Given the description of an element on the screen output the (x, y) to click on. 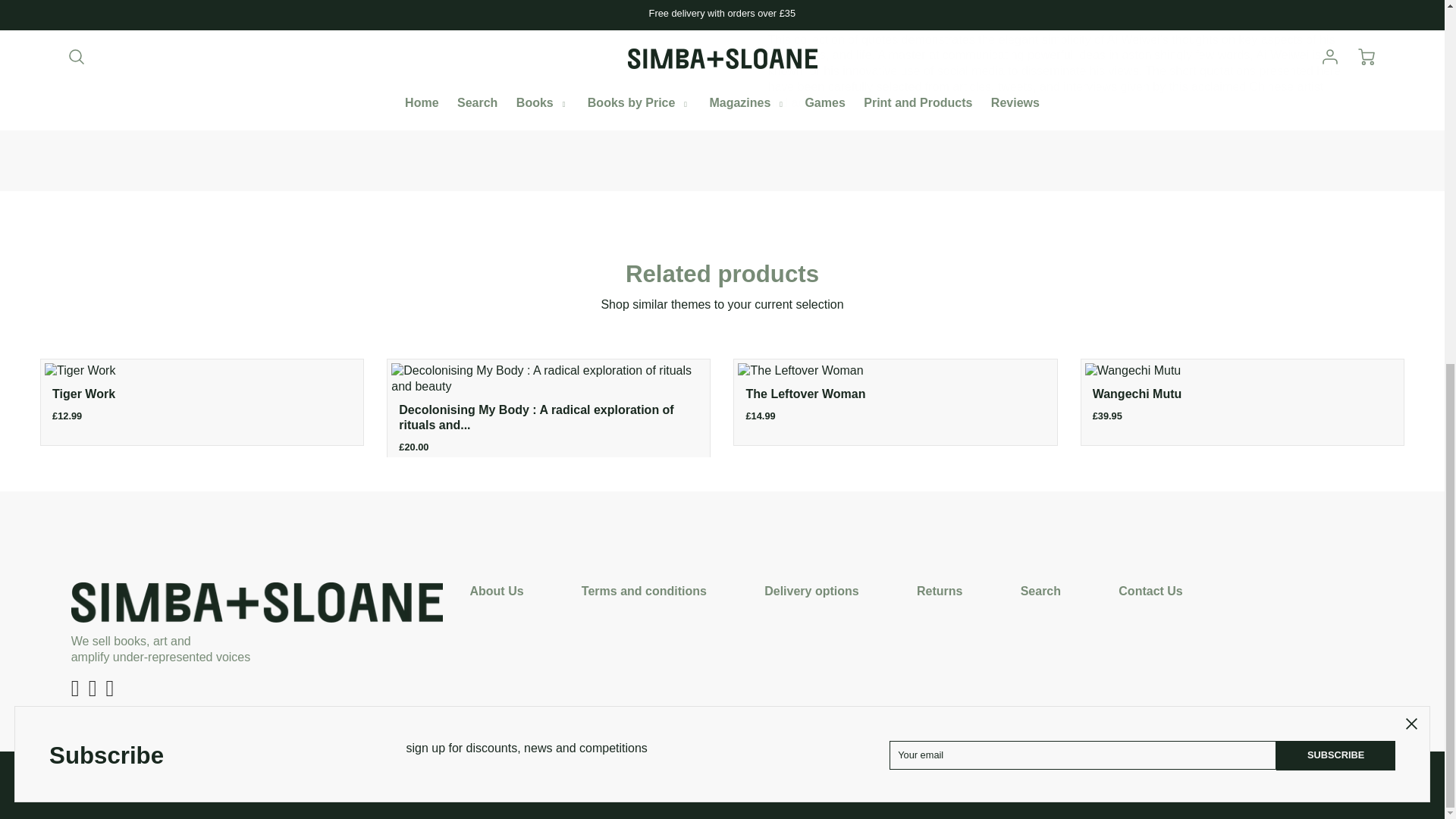
Diners Club (657, 783)
PayPal (785, 783)
Mastercard (753, 783)
Discover (689, 783)
Maestro (721, 783)
Visa (818, 783)
American Express (625, 783)
